Given the description of an element on the screen output the (x, y) to click on. 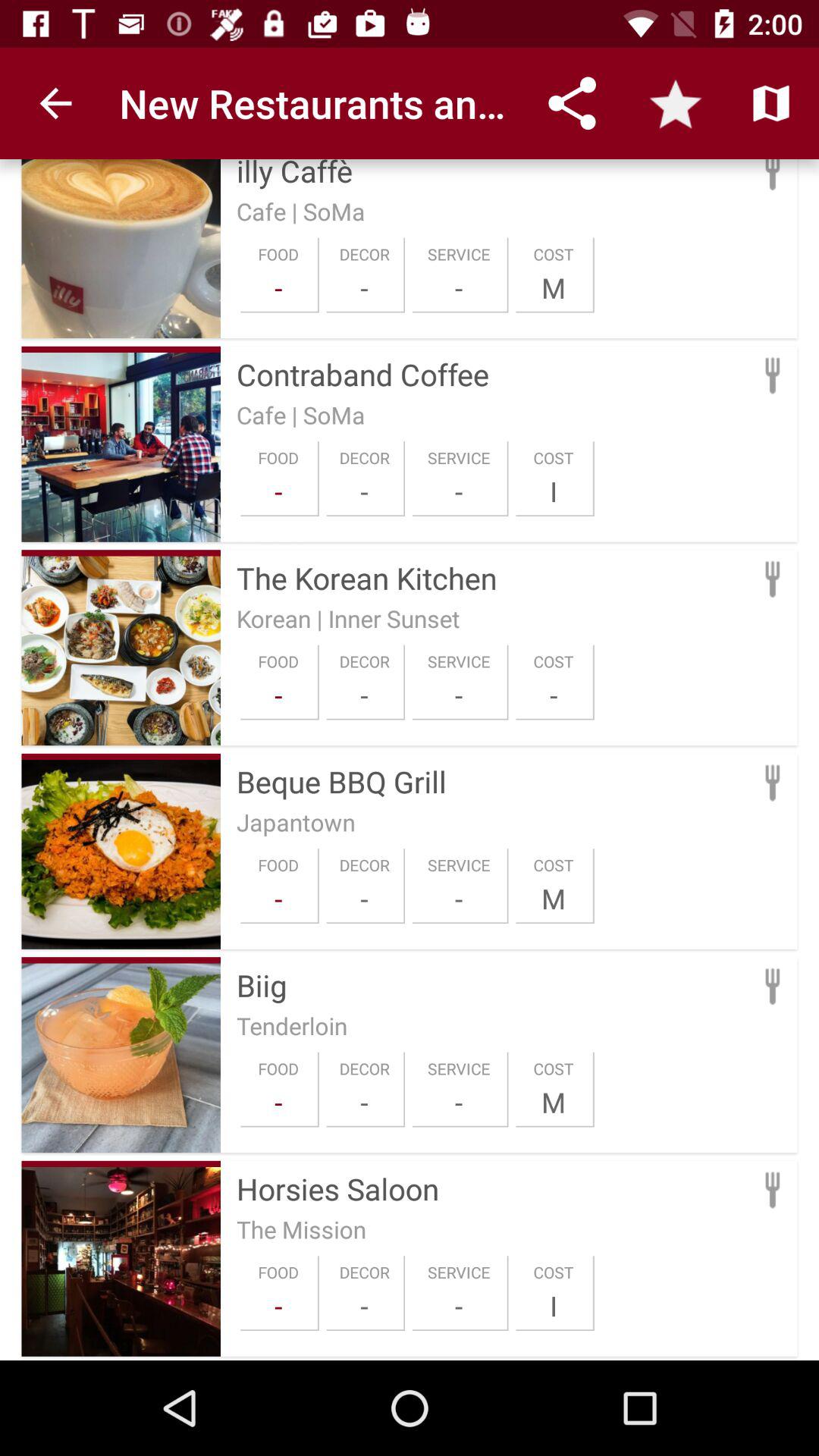
select item next to the korean kitchen (120, 552)
